Given the description of an element on the screen output the (x, y) to click on. 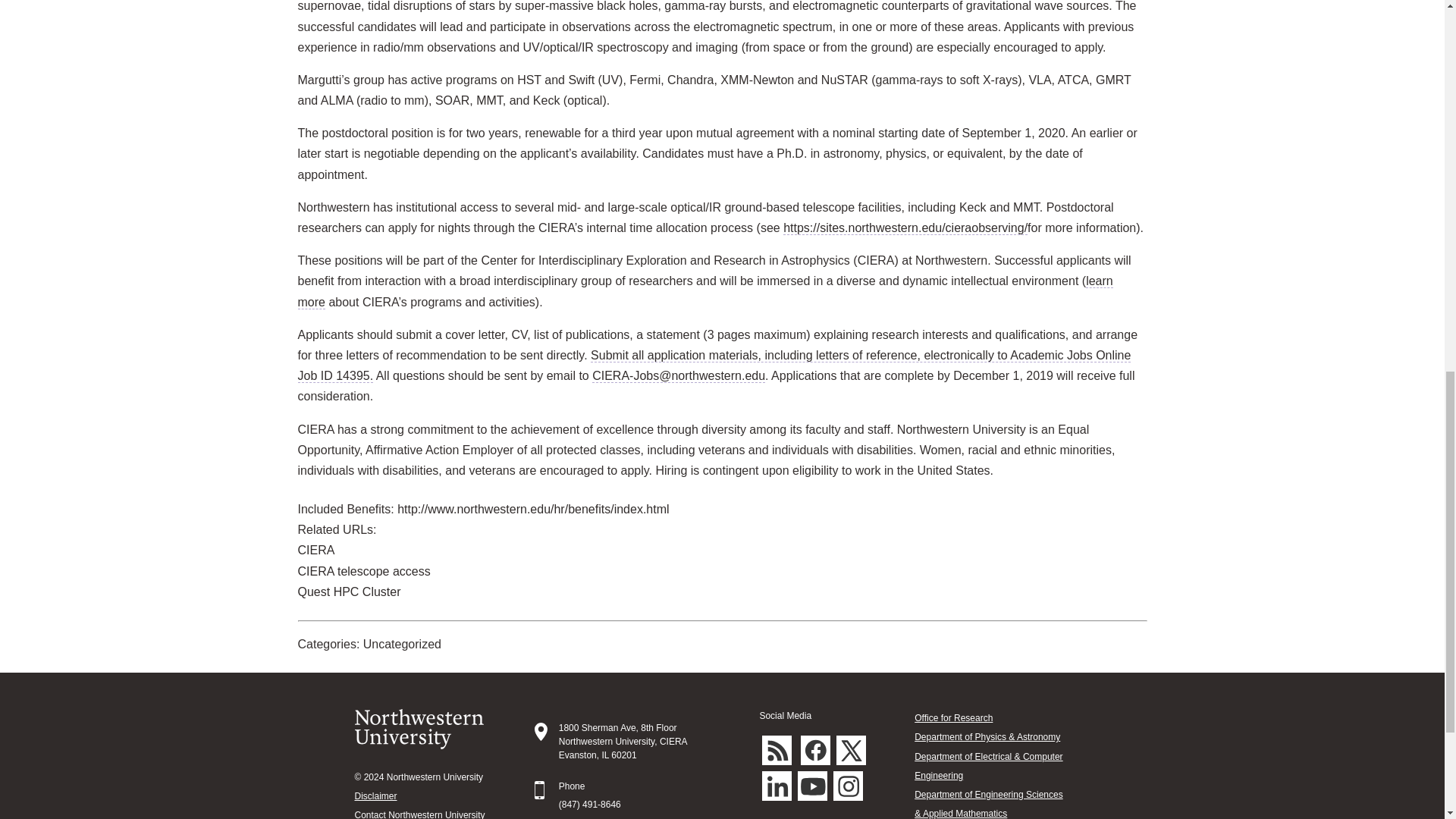
rss feed (776, 749)
LinkedIn (776, 785)
YouTube (812, 785)
Facebook (814, 749)
Twitter (850, 749)
Instagram (847, 785)
